Given the description of an element on the screen output the (x, y) to click on. 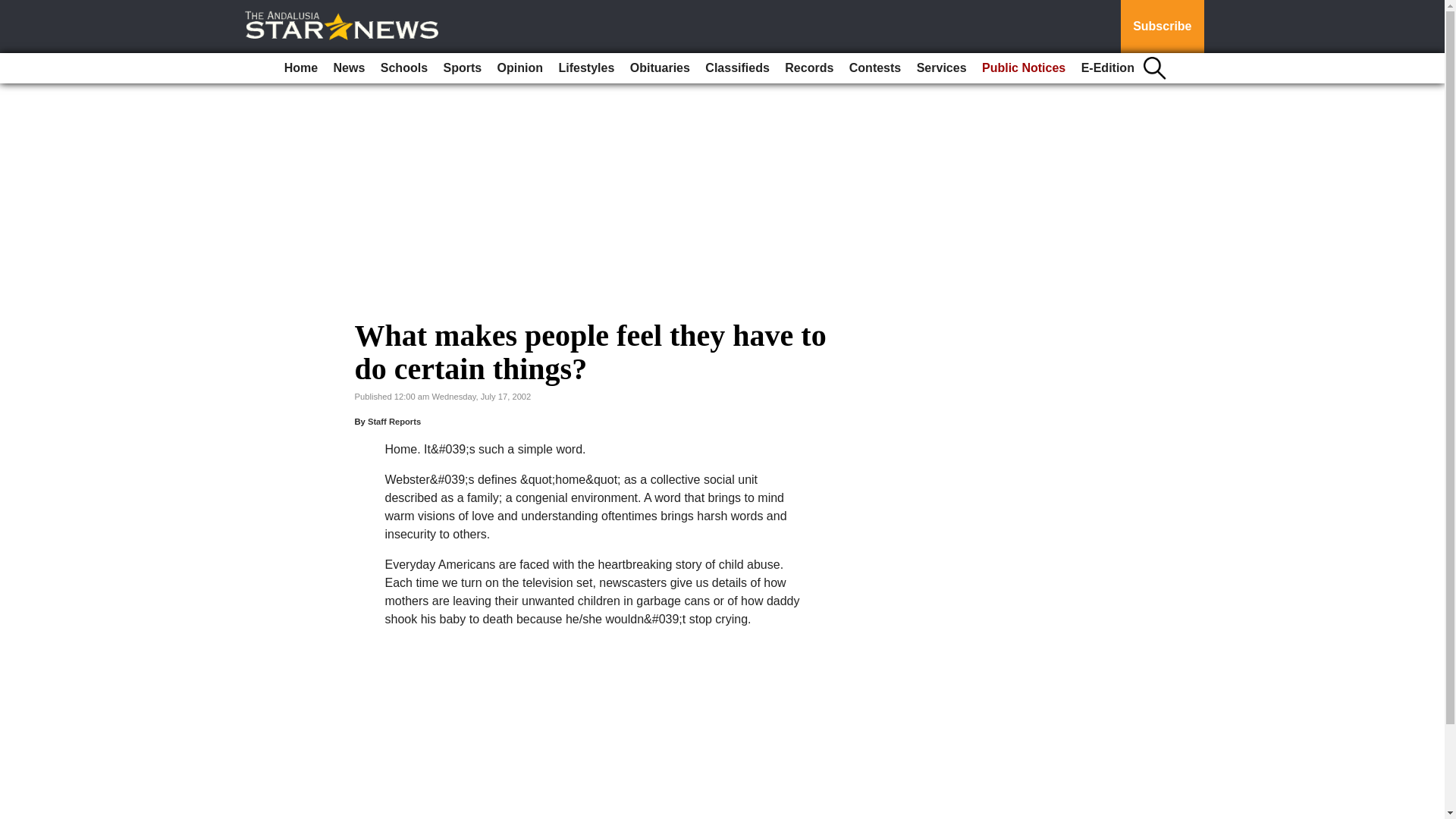
E-Edition (1107, 68)
Services (941, 68)
Go (13, 9)
Lifestyles (585, 68)
Opinion (520, 68)
Classifieds (736, 68)
Schools (403, 68)
Subscribe (1162, 26)
Records (809, 68)
Obituaries (659, 68)
